Given the description of an element on the screen output the (x, y) to click on. 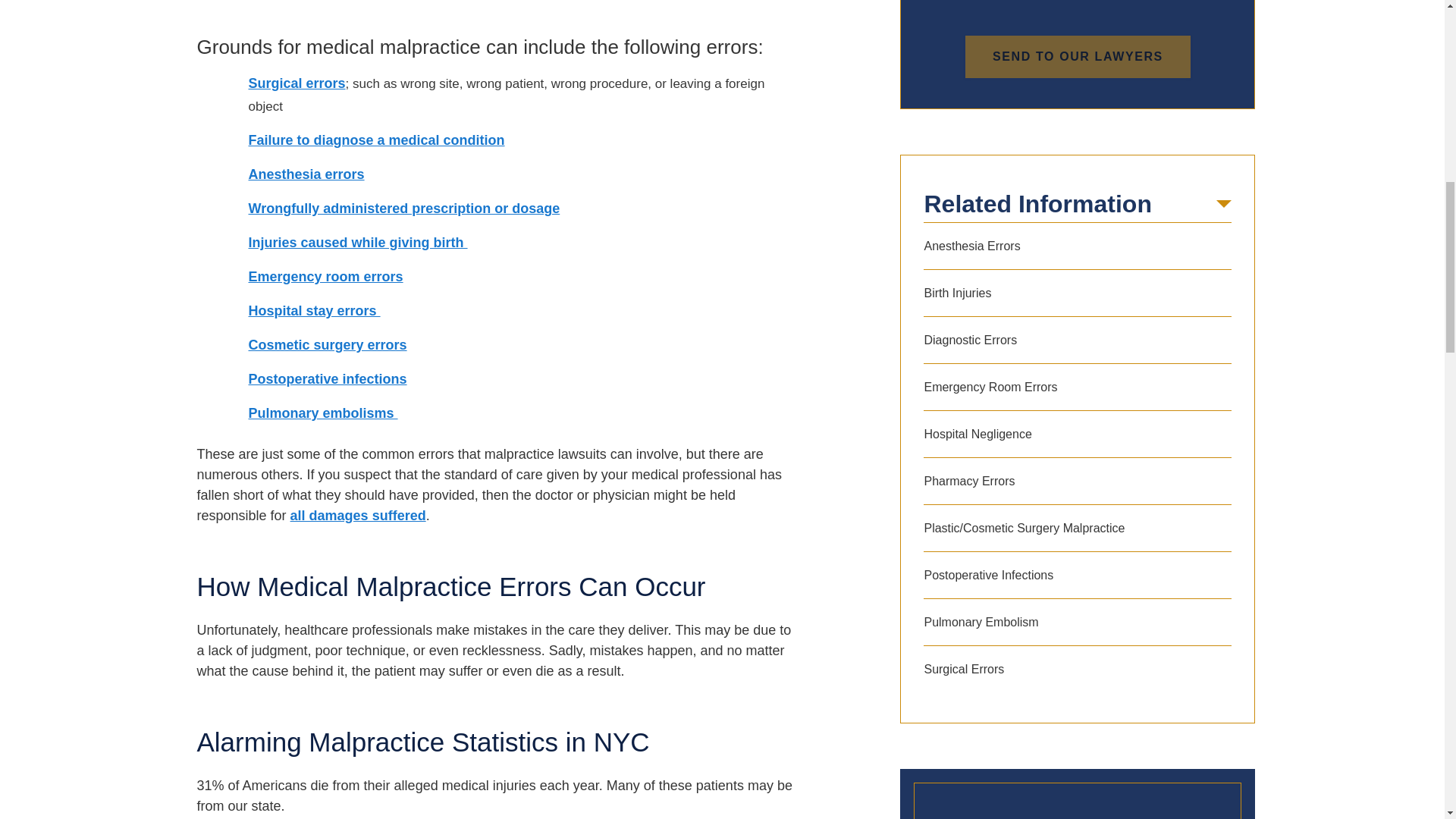
Send to our Lawyers (1078, 56)
